Given the description of an element on the screen output the (x, y) to click on. 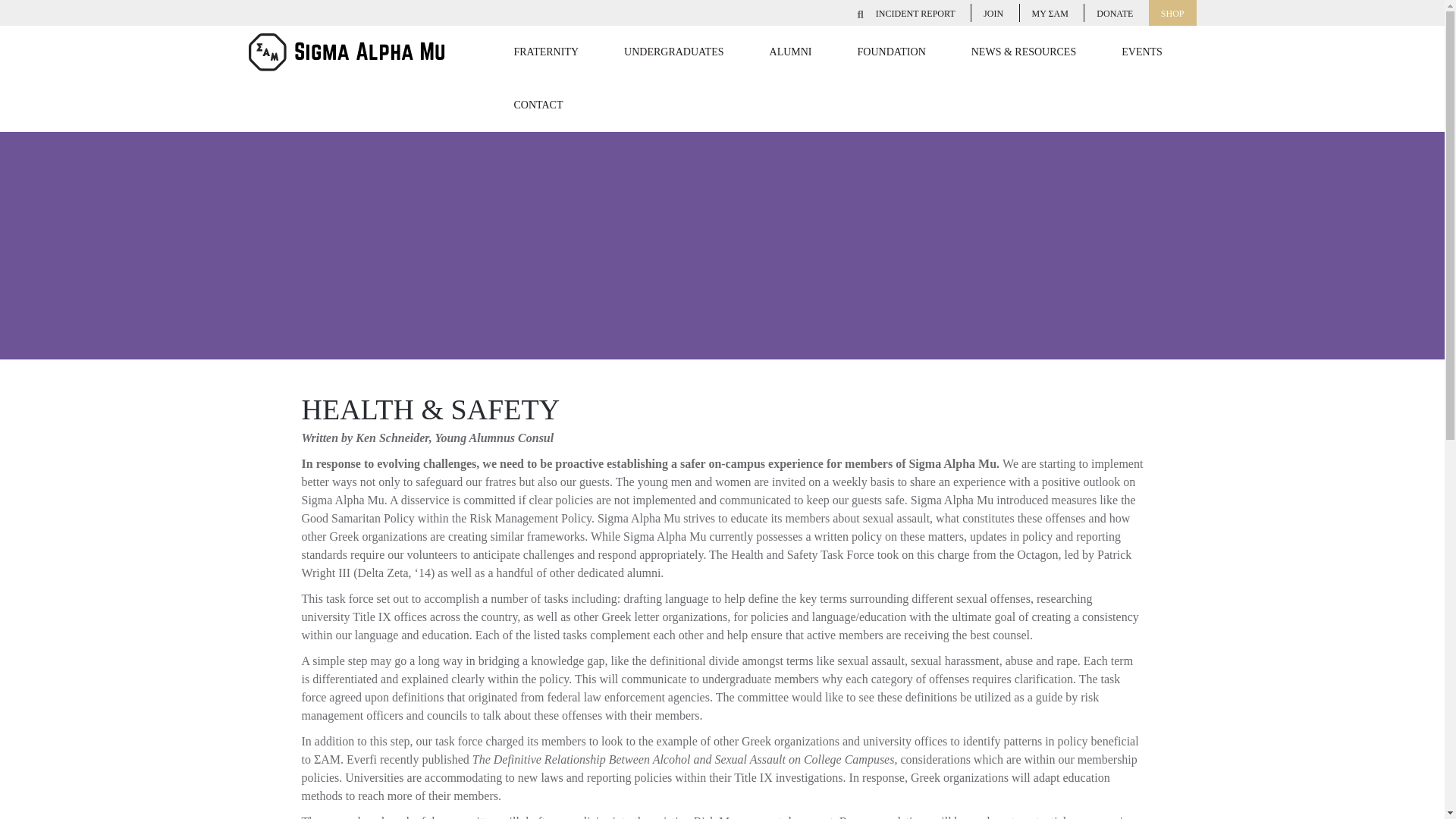
SHOP (1172, 13)
DONATE (1114, 13)
JOIN (993, 13)
INCIDENT REPORT (915, 13)
UNDERGRADUATES (673, 51)
FRATERNITY (546, 51)
